Given the description of an element on the screen output the (x, y) to click on. 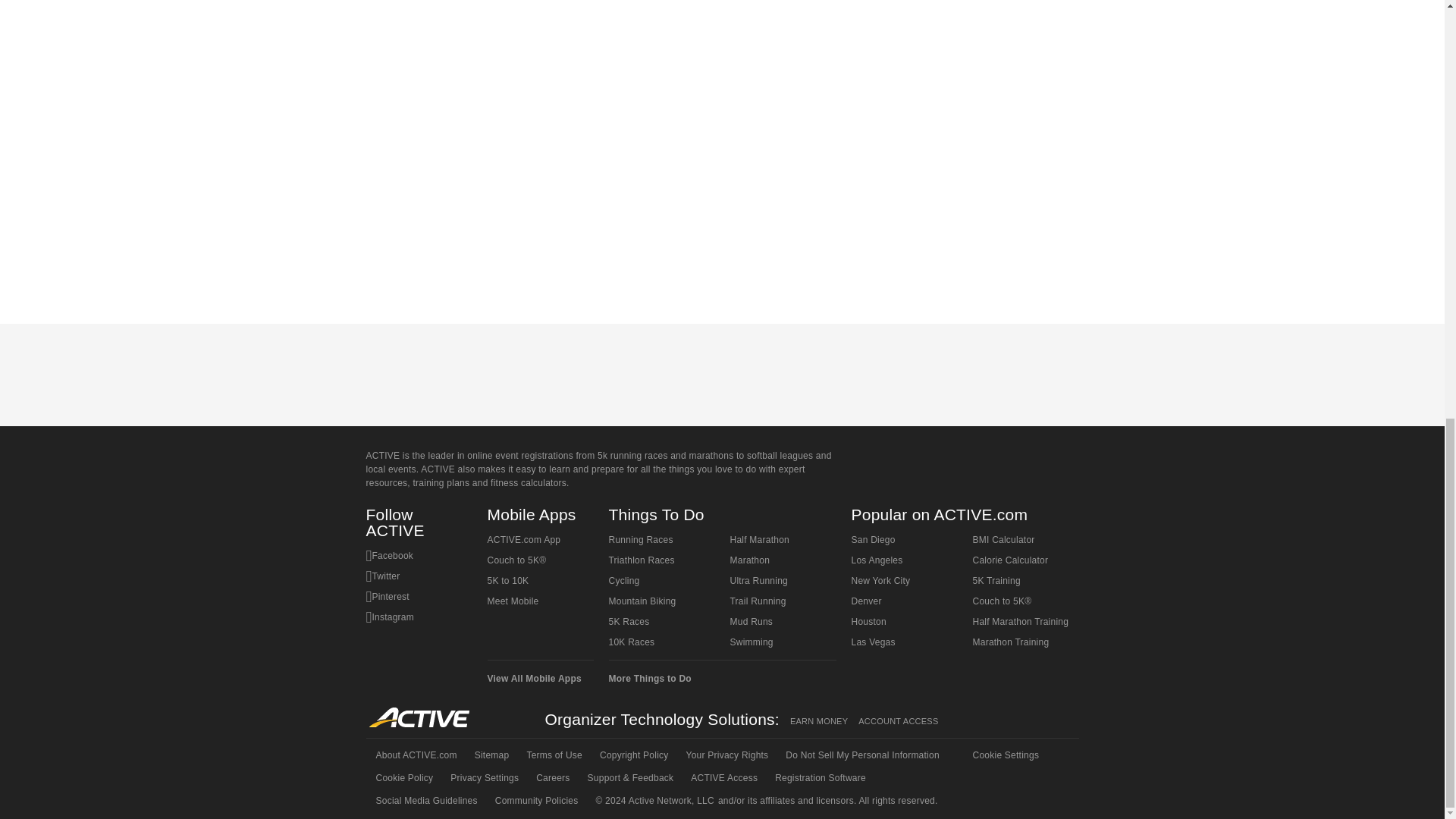
Do Not Sell My Personal Information (861, 754)
Copyright Policy (633, 754)
Your Privacy Rights: Updated (726, 754)
Terms of Use (552, 754)
Privacy Settings (483, 777)
Cookie Policy (403, 777)
Careers at Active (550, 777)
